Given the description of an element on the screen output the (x, y) to click on. 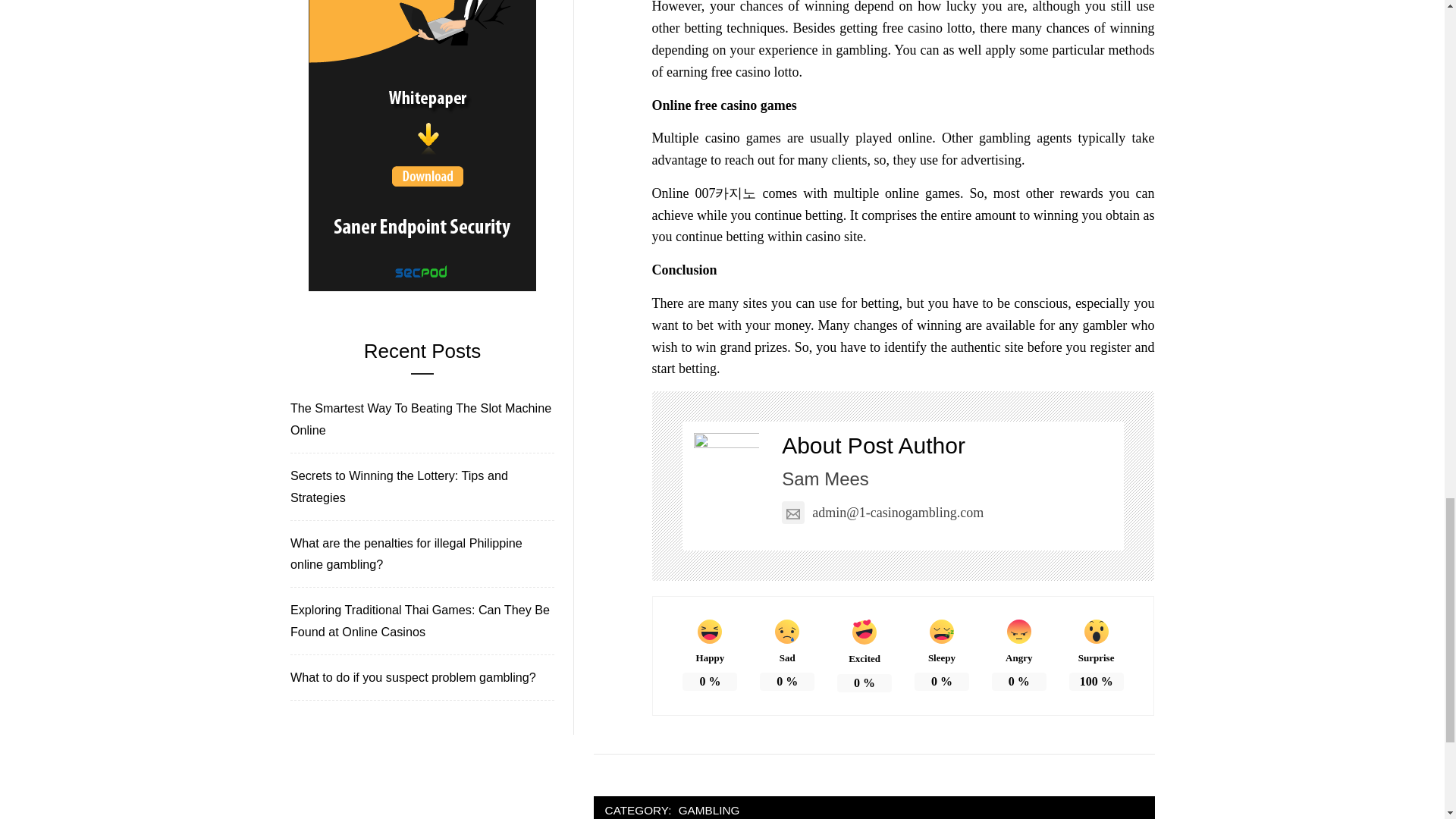
GAMBLING (709, 809)
Sam Mees (825, 478)
